Given the description of an element on the screen output the (x, y) to click on. 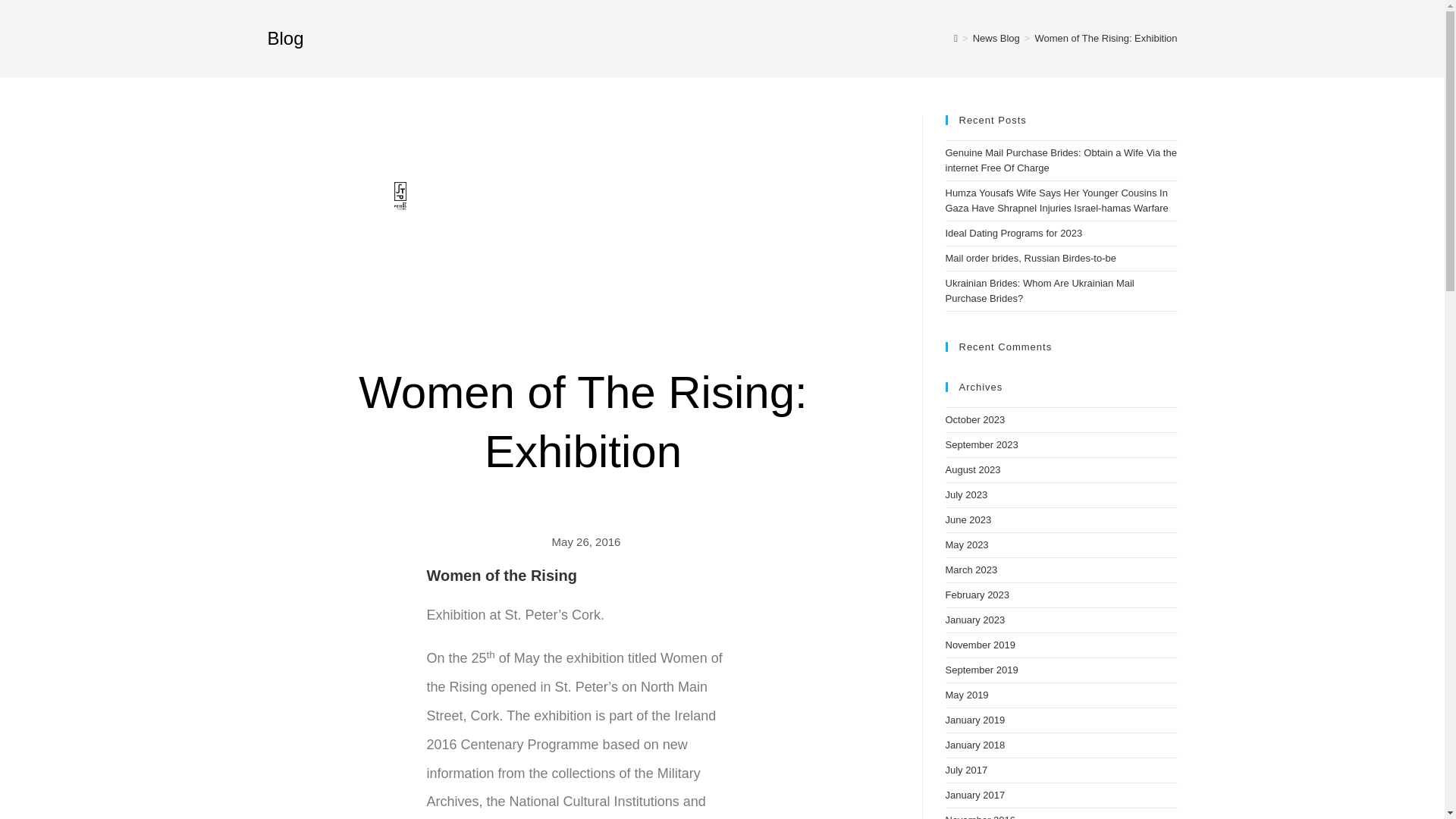
May 26, 2016 (583, 541)
News Blog (996, 38)
Women of The Rising: Exhibition (1104, 38)
